Given the description of an element on the screen output the (x, y) to click on. 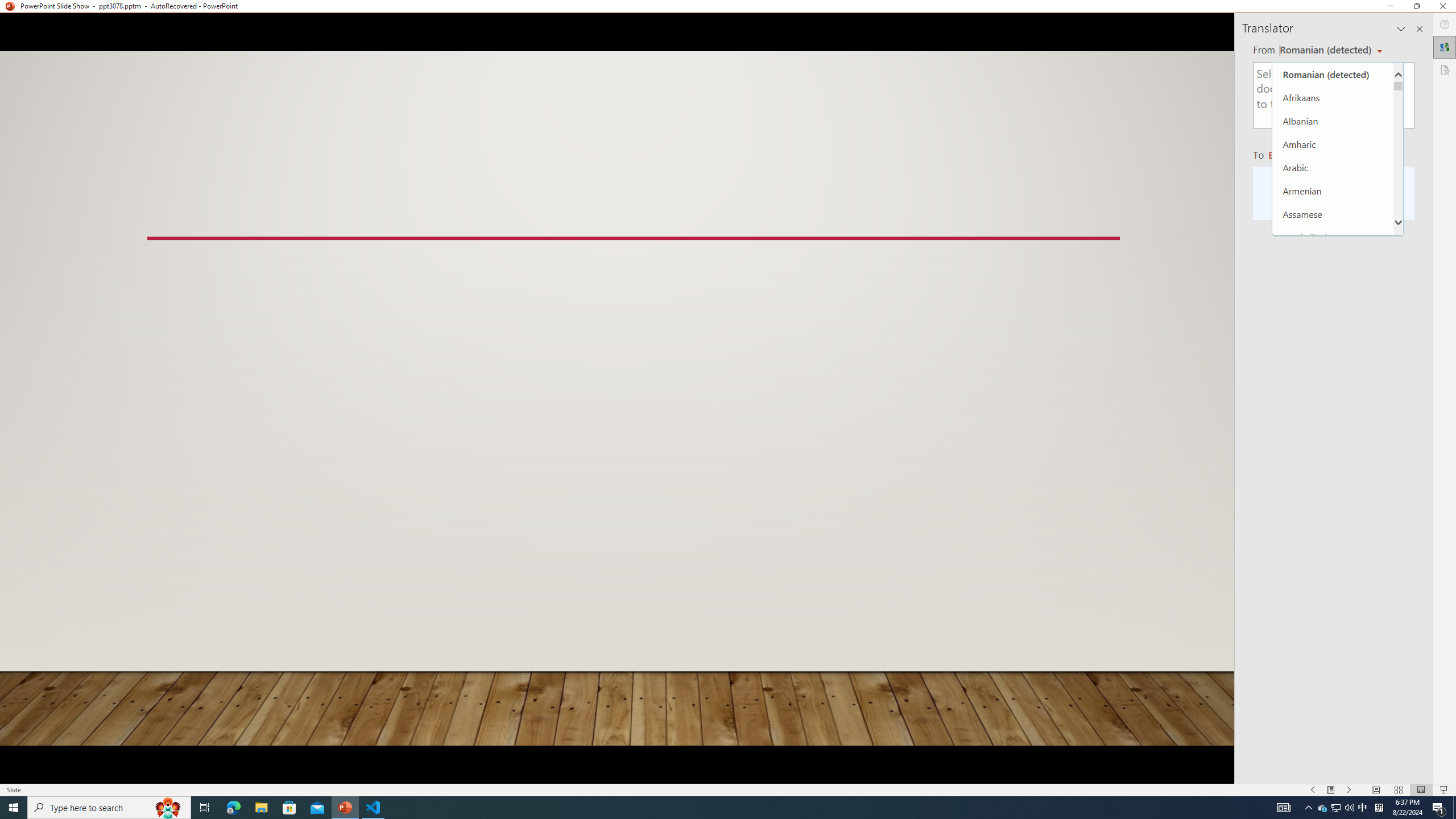
Slide Show Previous On (1313, 790)
Dogri (1332, 679)
Slide Show Next On (1349, 790)
Amharic (1332, 143)
Afrikaans (1332, 96)
